Given the description of an element on the screen output the (x, y) to click on. 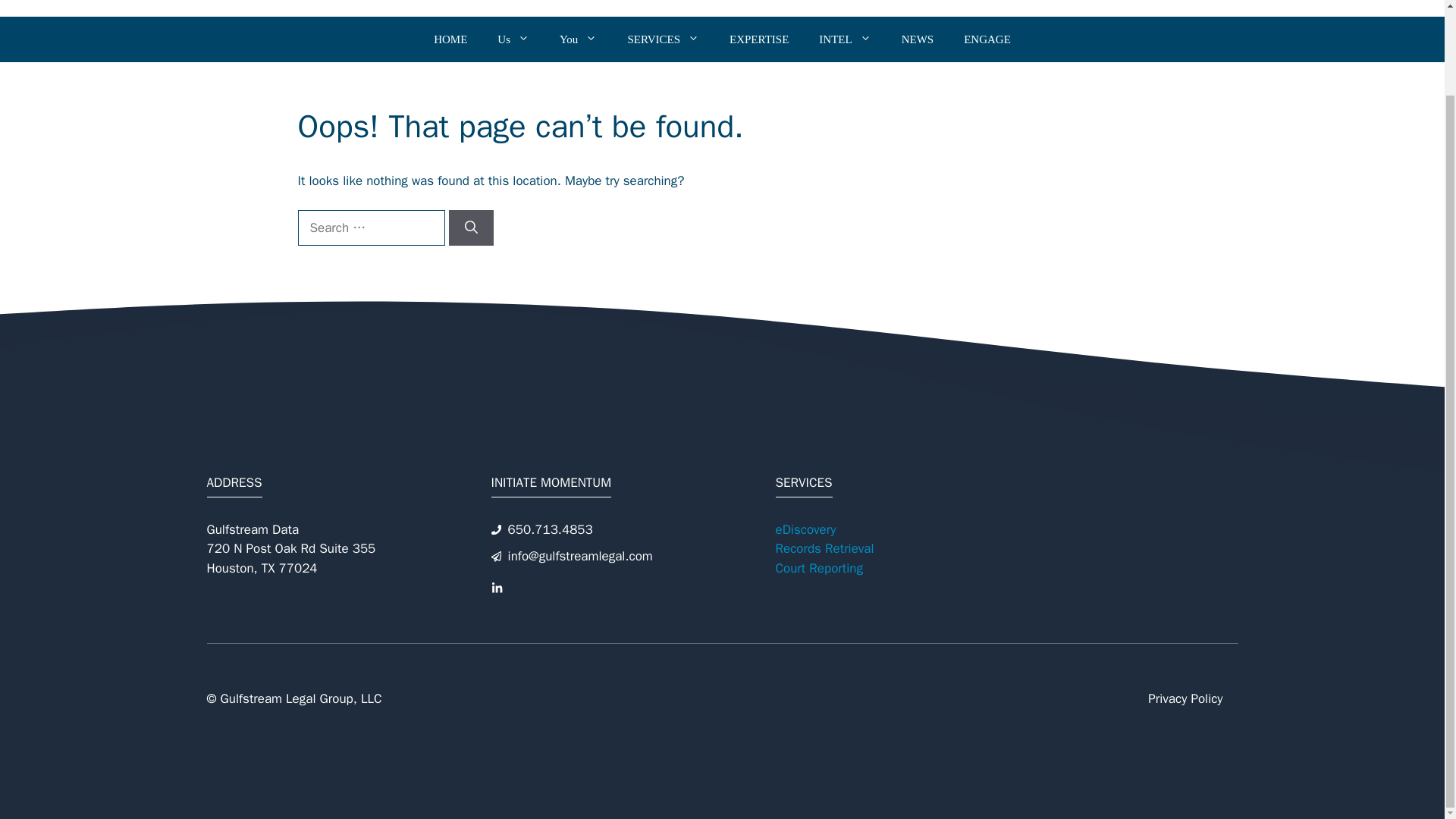
ENGAGE (987, 39)
NEWS (917, 39)
Us (512, 39)
HOME (450, 39)
SERVICES (662, 39)
eDiscovery (804, 529)
Court Reporting (817, 568)
EXPERTISE (758, 39)
You (577, 39)
INTEL (844, 39)
Privacy Policy (1185, 699)
Search for: (370, 227)
Records Retrieval (823, 548)
